Given the description of an element on the screen output the (x, y) to click on. 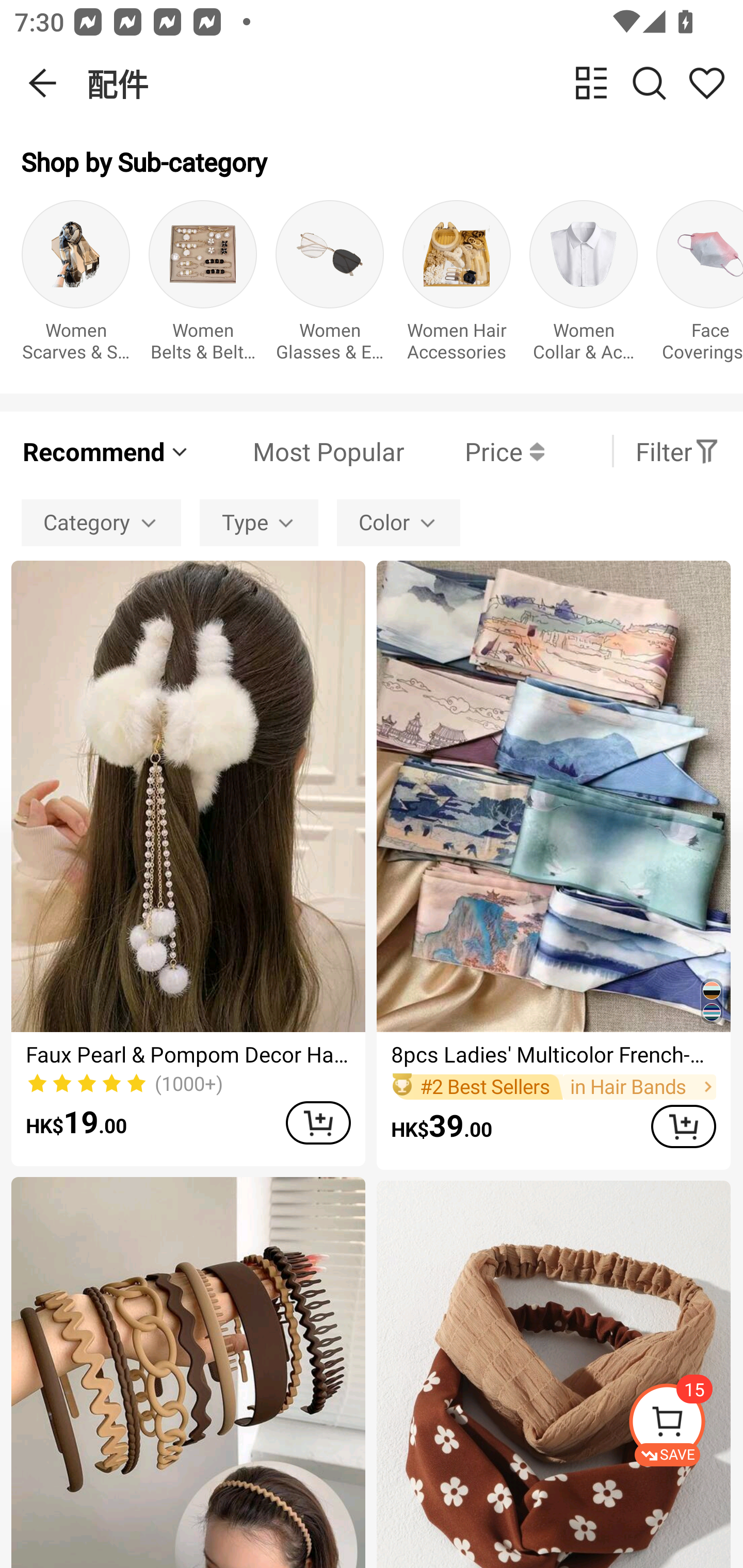
配件 change view Search Share (414, 82)
change view (591, 82)
Search (648, 82)
Share (706, 82)
Women Scarves & Scarf Accessories (75, 285)
Women Belts & Belts Accessories (202, 285)
Women Glasses & Eyewear Accessories (329, 285)
Women Hair Accessories (456, 285)
Women Collar & Accessories (583, 285)
Face Coverings & Accs (699, 285)
Recommend (106, 450)
Most Popular (297, 450)
Price (474, 450)
Filter (677, 450)
Category (101, 521)
Type (258, 521)
Color (397, 521)
#2 Best Sellers in Hair Bands (553, 1086)
ADD TO CART (318, 1122)
ADD TO CART (683, 1126)
9pcs/set Women's Brown Frosted Plastic Hairbands (188, 1372)
2pcs Flower Print Hair Band (553, 1374)
SAVE (685, 1424)
